Given the description of an element on the screen output the (x, y) to click on. 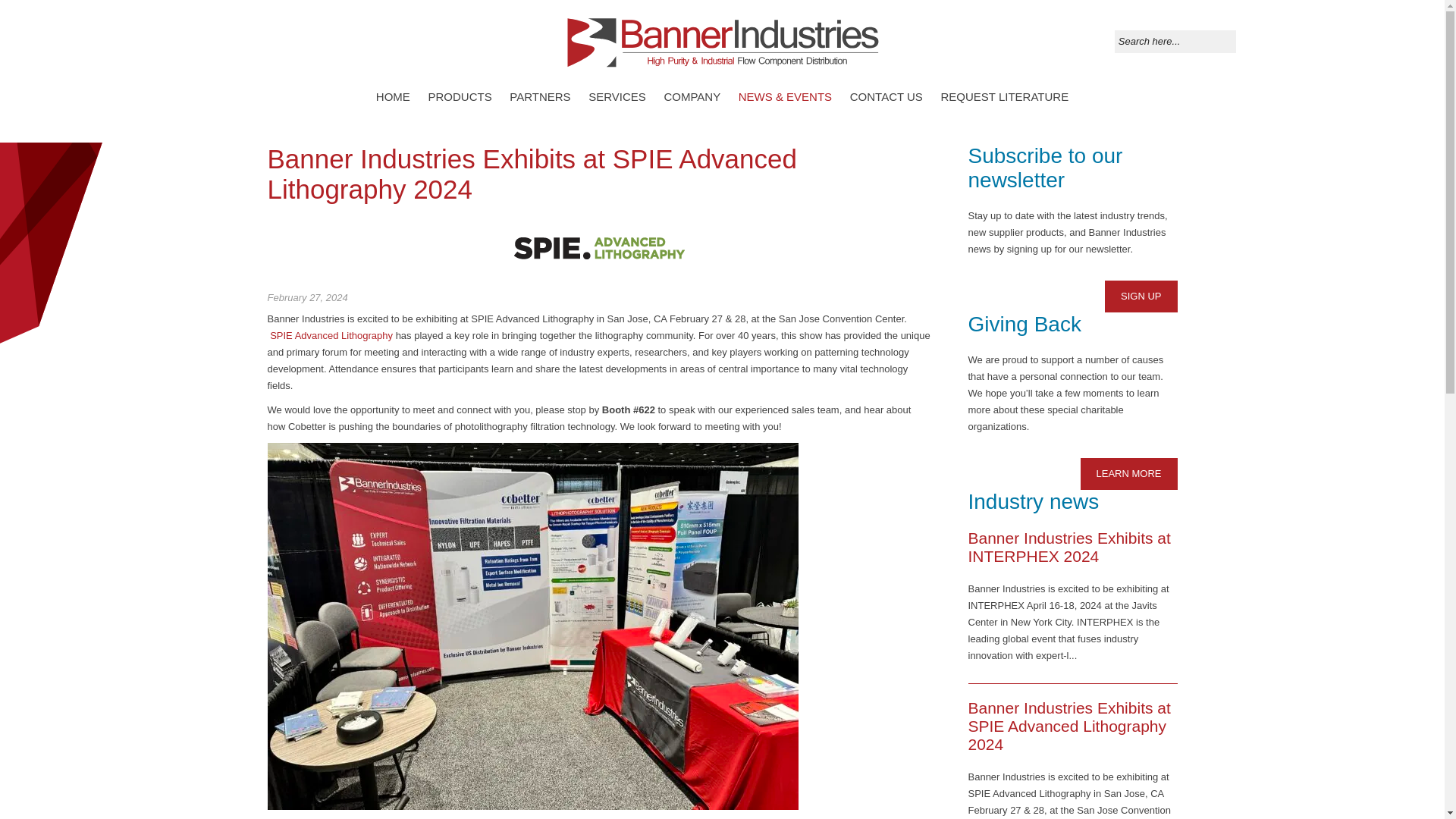
SIGN UP (1140, 296)
SPIE Advanced Lithography (331, 335)
REQUEST LITERATURE (1004, 96)
Banner Industries Exhibits at SPIE Advanced Lithography 2024 (531, 173)
Banner Industries Exhibits at INTERPHEX 2024 (1069, 547)
CONTACT US (886, 96)
Banner Industries Exhibits at SPIE Advanced Lithography 2024 (531, 173)
COMPANY (691, 96)
PARTNERS (539, 96)
SERVICES (617, 96)
LEARN MORE (1128, 473)
PRODUCTS (460, 96)
Banner Industries Exhibits at SPIE Advanced Lithography 2024 (1069, 725)
Banner Industries Exhibits at SPIE Advanced Lithography 2024 (598, 247)
HOME (392, 96)
